Given the description of an element on the screen output the (x, y) to click on. 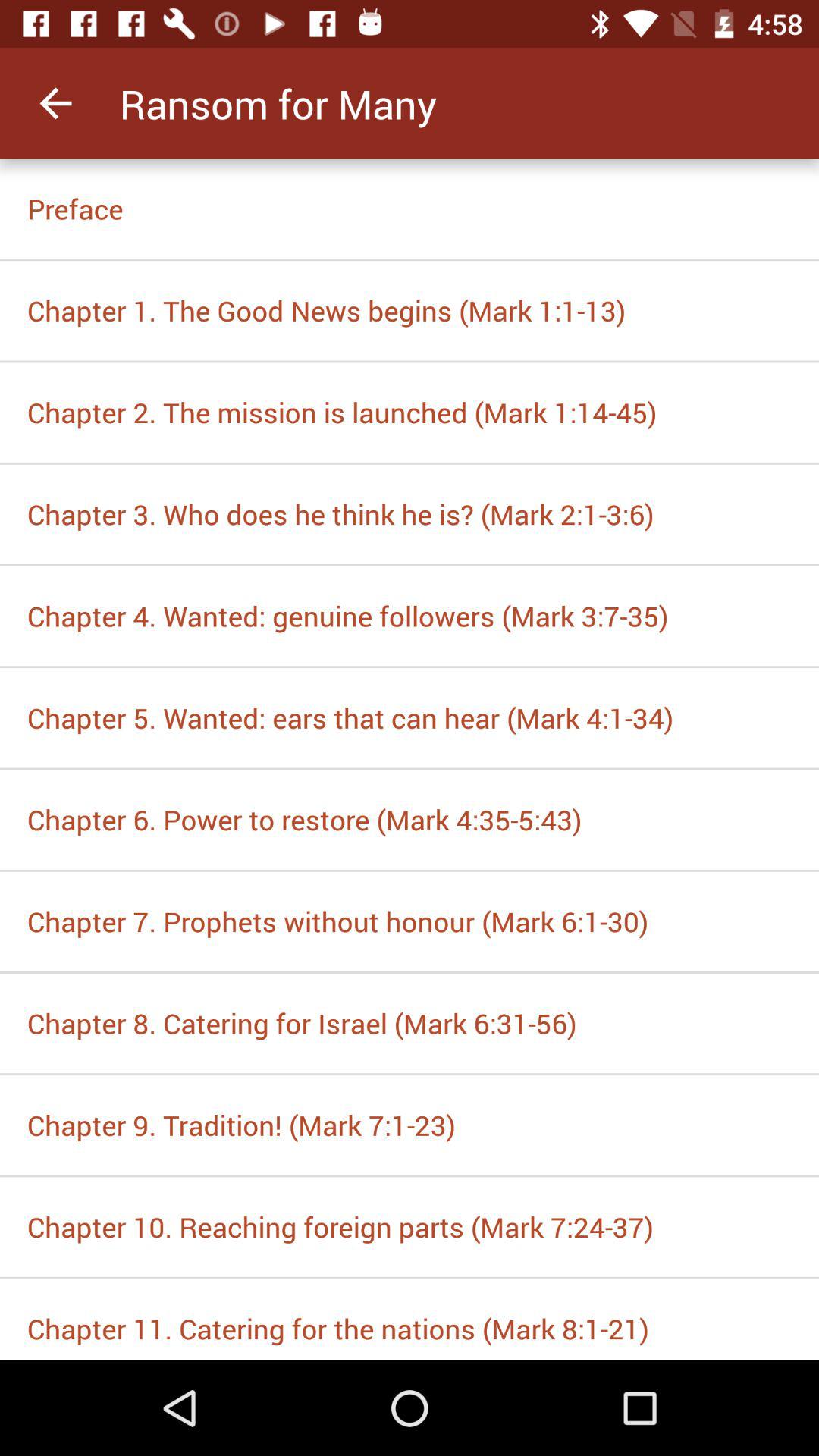
select the item above preface (55, 103)
